Given the description of an element on the screen output the (x, y) to click on. 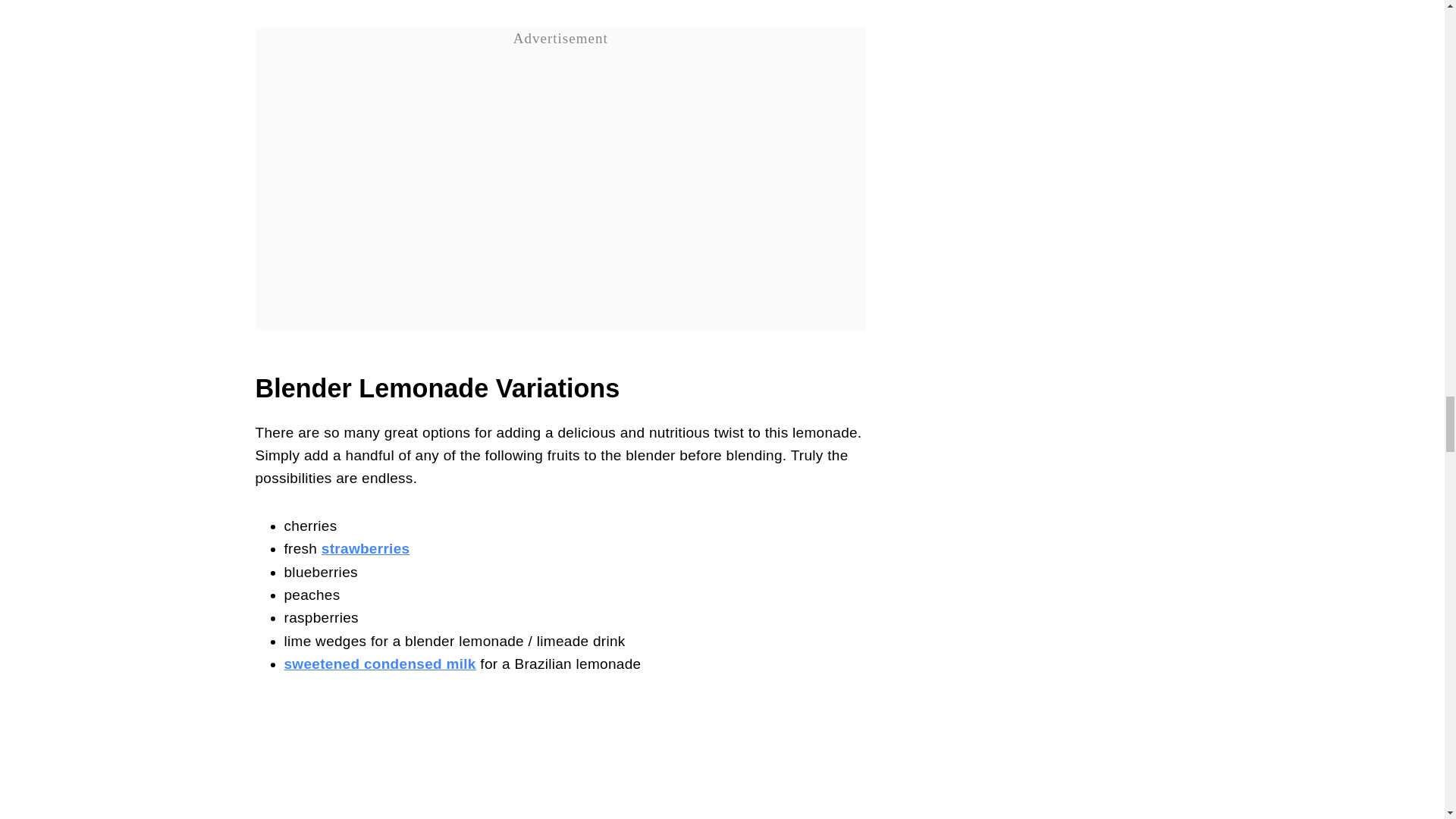
strawberries (365, 548)
sweetened condensed milk (379, 663)
whole lemon lemonade (560, 759)
